Given the description of an element on the screen output the (x, y) to click on. 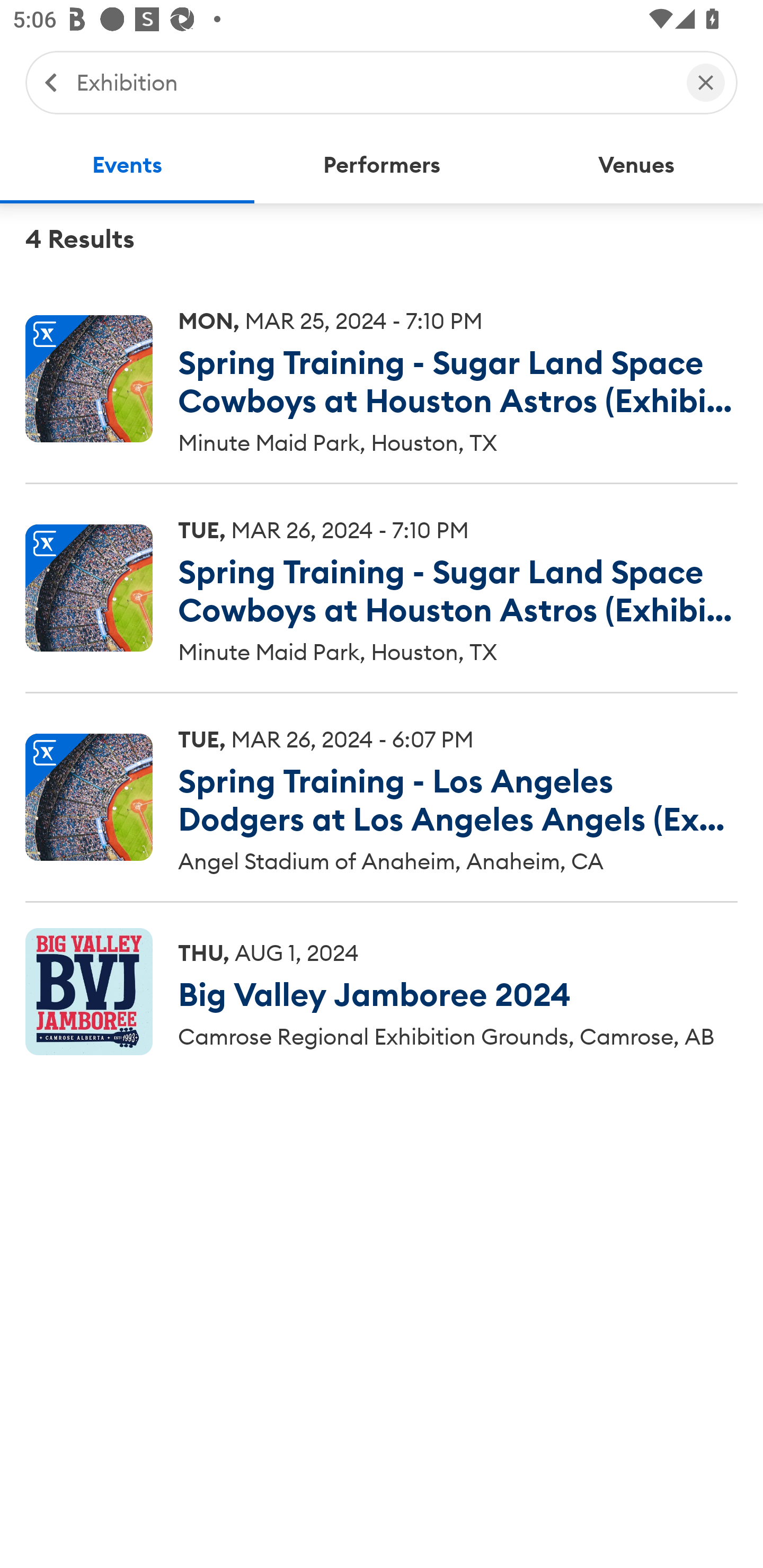
Exhibition (371, 81)
Clear Search (705, 81)
Performers (381, 165)
Venues (635, 165)
